Given the description of an element on the screen output the (x, y) to click on. 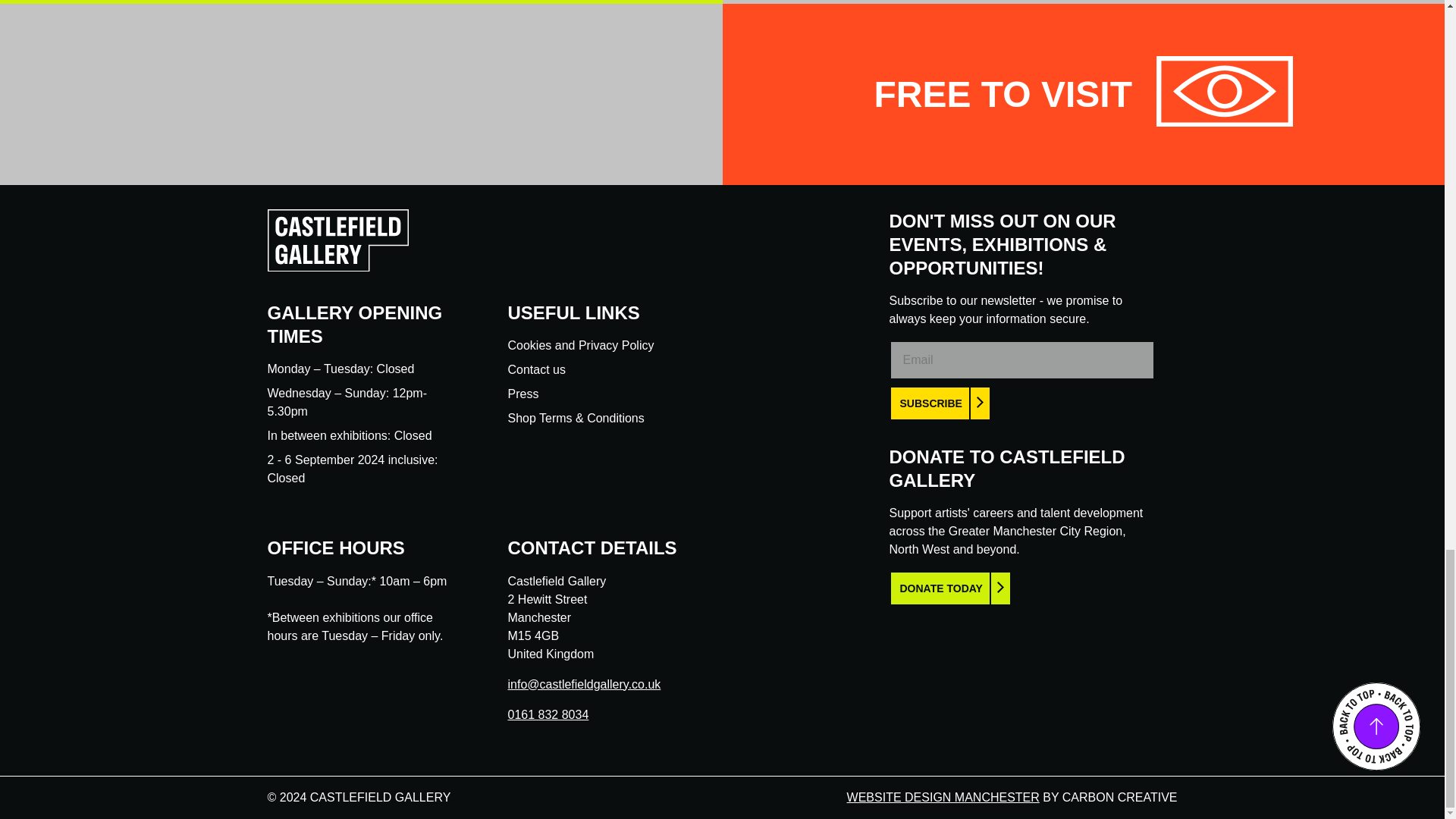
Castlefield Gallery on Instagram (570, 743)
Cookies and Privacy Policy (580, 345)
Castlefield Gallery on Facebook (515, 743)
Castlefield Gallery on You Tube (597, 743)
Click to go back home (336, 267)
0161 832 8034 (548, 714)
Castlefield Gallery on Facebook (515, 743)
Press (523, 393)
Contact us (537, 369)
Castlefield Gallery on Twitter (542, 743)
